Given the description of an element on the screen output the (x, y) to click on. 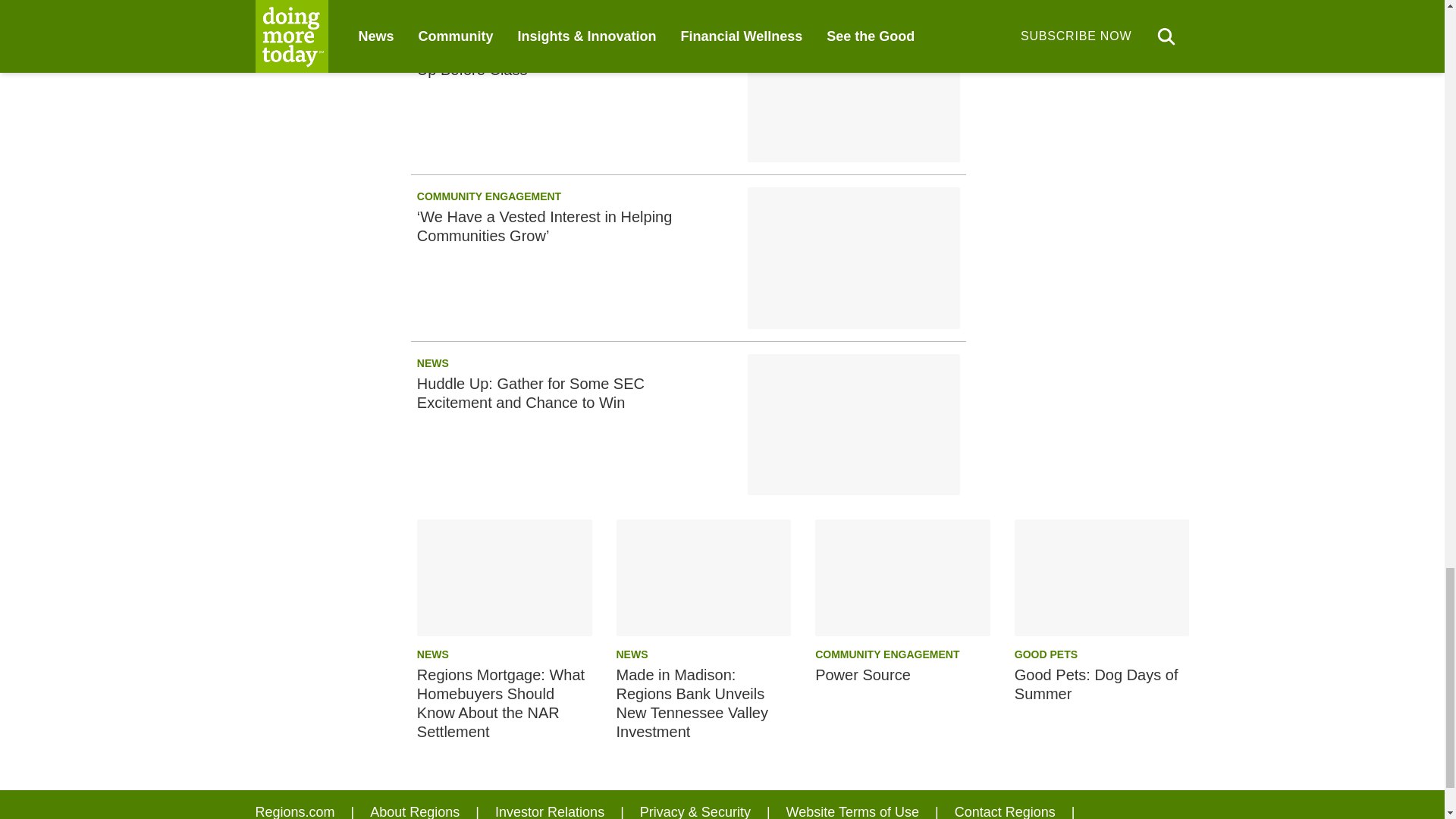
Shovel and Shine: Regions Associates Clean Up Before Class (853, 91)
Huddle Up: Gather for Some SEC Excitement and Chance to Win (853, 424)
Power Source (902, 577)
Good Pets: Dog Days of Summer (1101, 577)
